Given the description of an element on the screen output the (x, y) to click on. 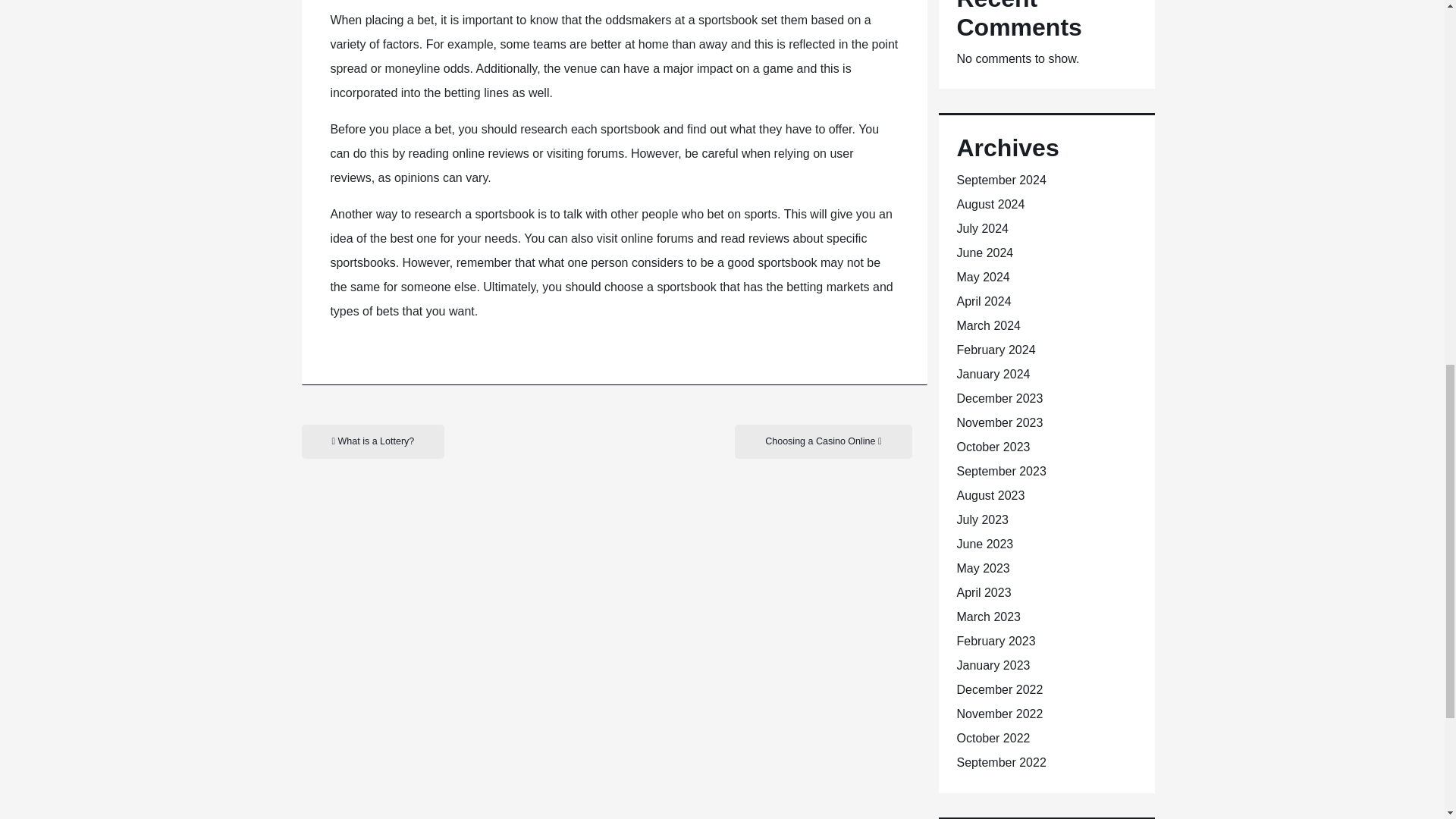
November 2023 (999, 422)
March 2023 (989, 616)
November 2022 (999, 713)
June 2023 (984, 543)
January 2024 (993, 373)
July 2024 (982, 228)
What is a Lottery? (373, 441)
December 2023 (999, 398)
August 2023 (990, 495)
May 2024 (983, 277)
